Given the description of an element on the screen output the (x, y) to click on. 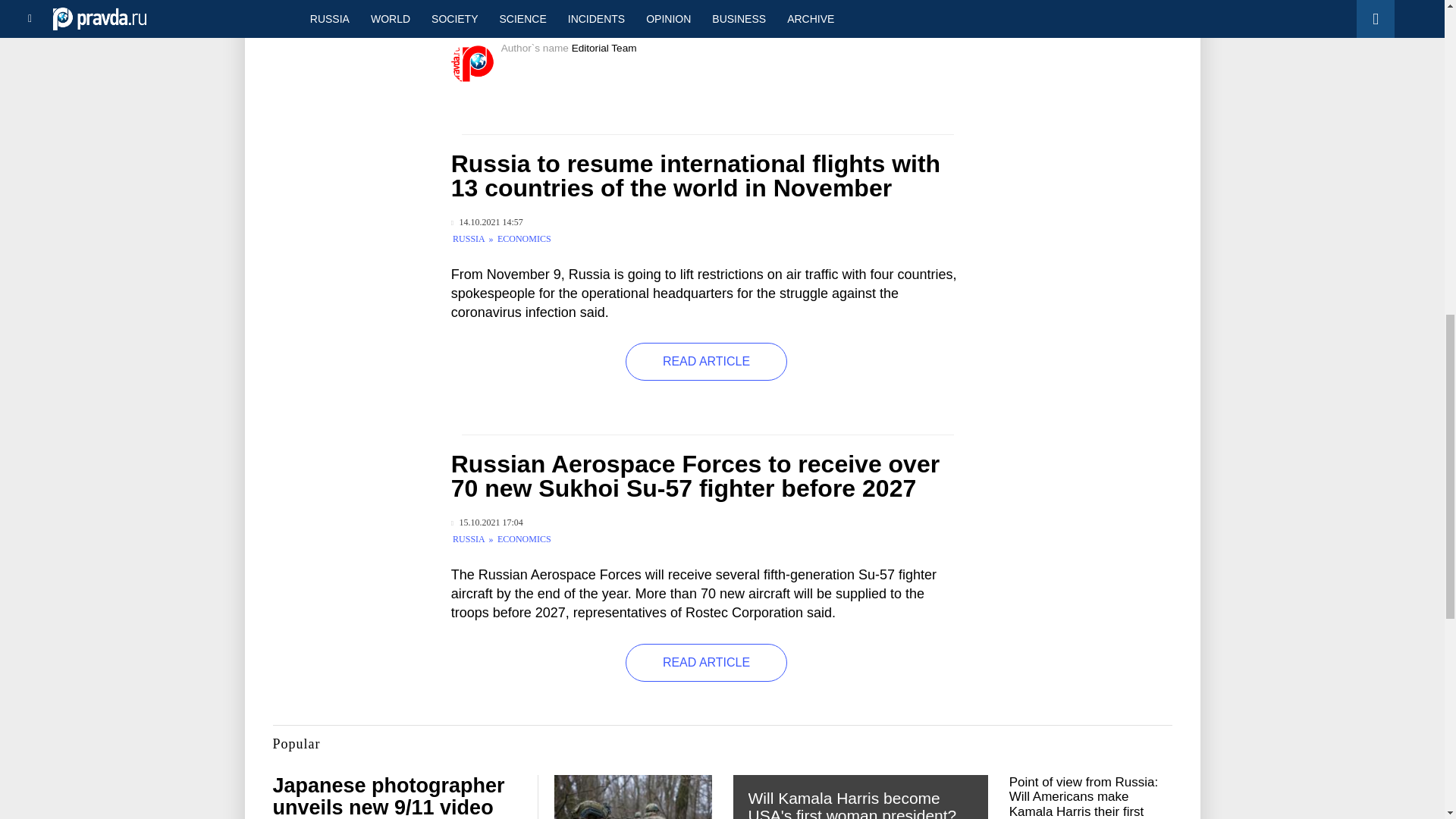
Published (486, 222)
Back to top (1418, 79)
Facebook (744, 11)
Ukraine loses another Abrams tank in special operation zone (348, 4)
Published (486, 522)
RSS (795, 11)
Telegram channel (652, 11)
